Given the description of an element on the screen output the (x, y) to click on. 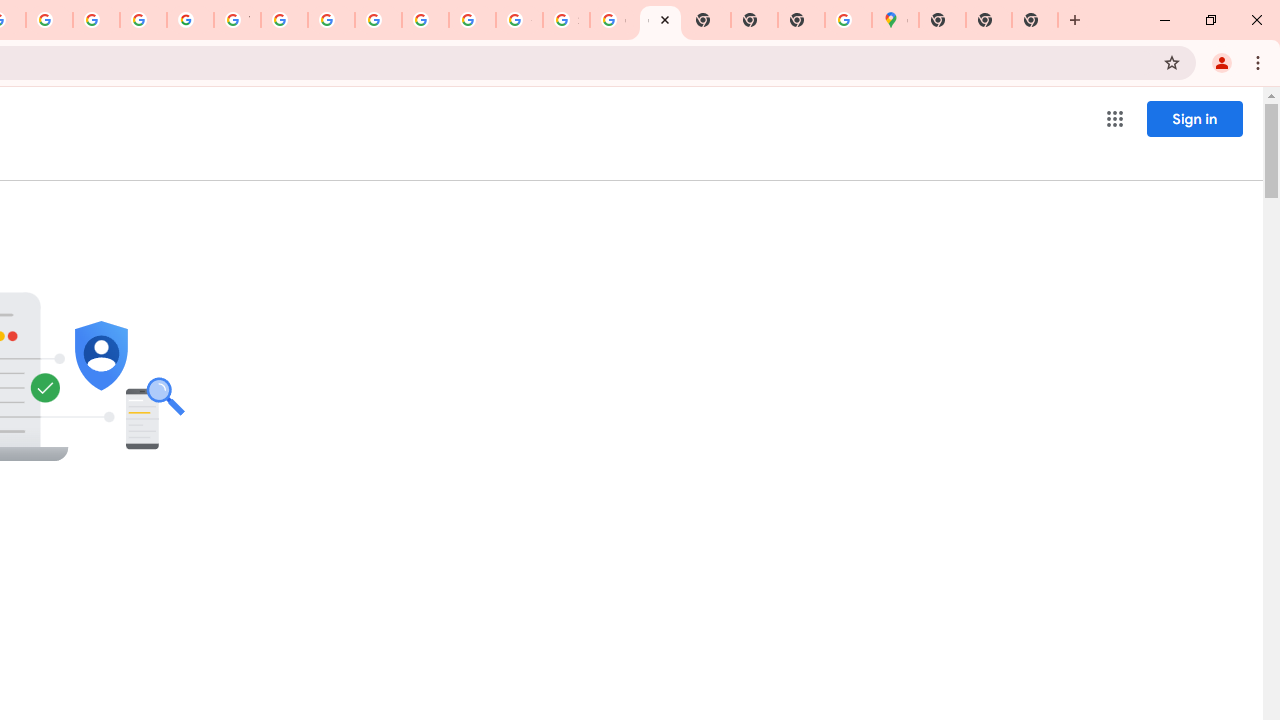
New Tab (989, 20)
New Tab (942, 20)
YouTube (237, 20)
Google Maps (895, 20)
Use Google Maps in Space - Google Maps Help (848, 20)
